Given the description of an element on the screen output the (x, y) to click on. 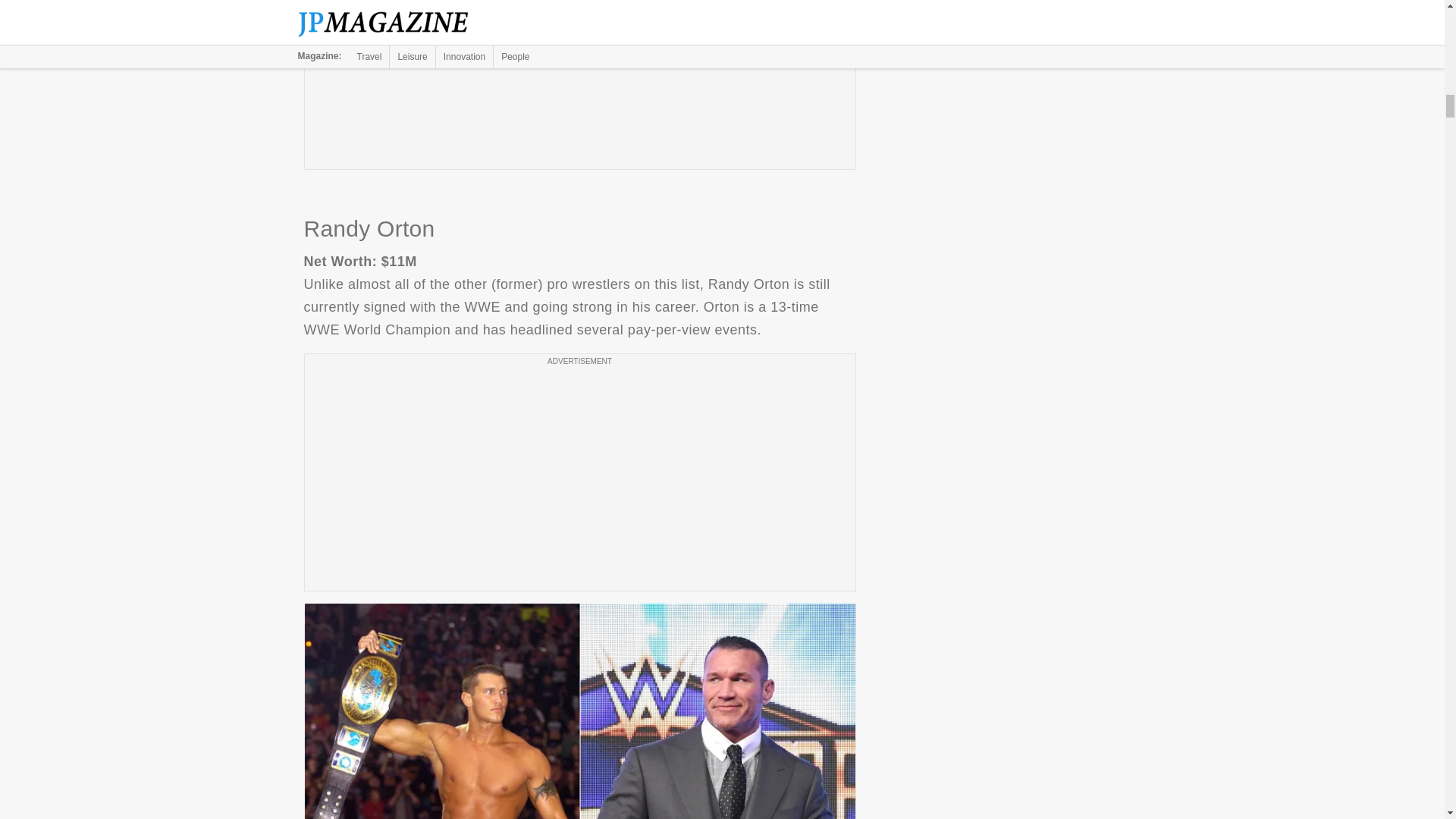
Randy Orton (579, 710)
